Given the description of an element on the screen output the (x, y) to click on. 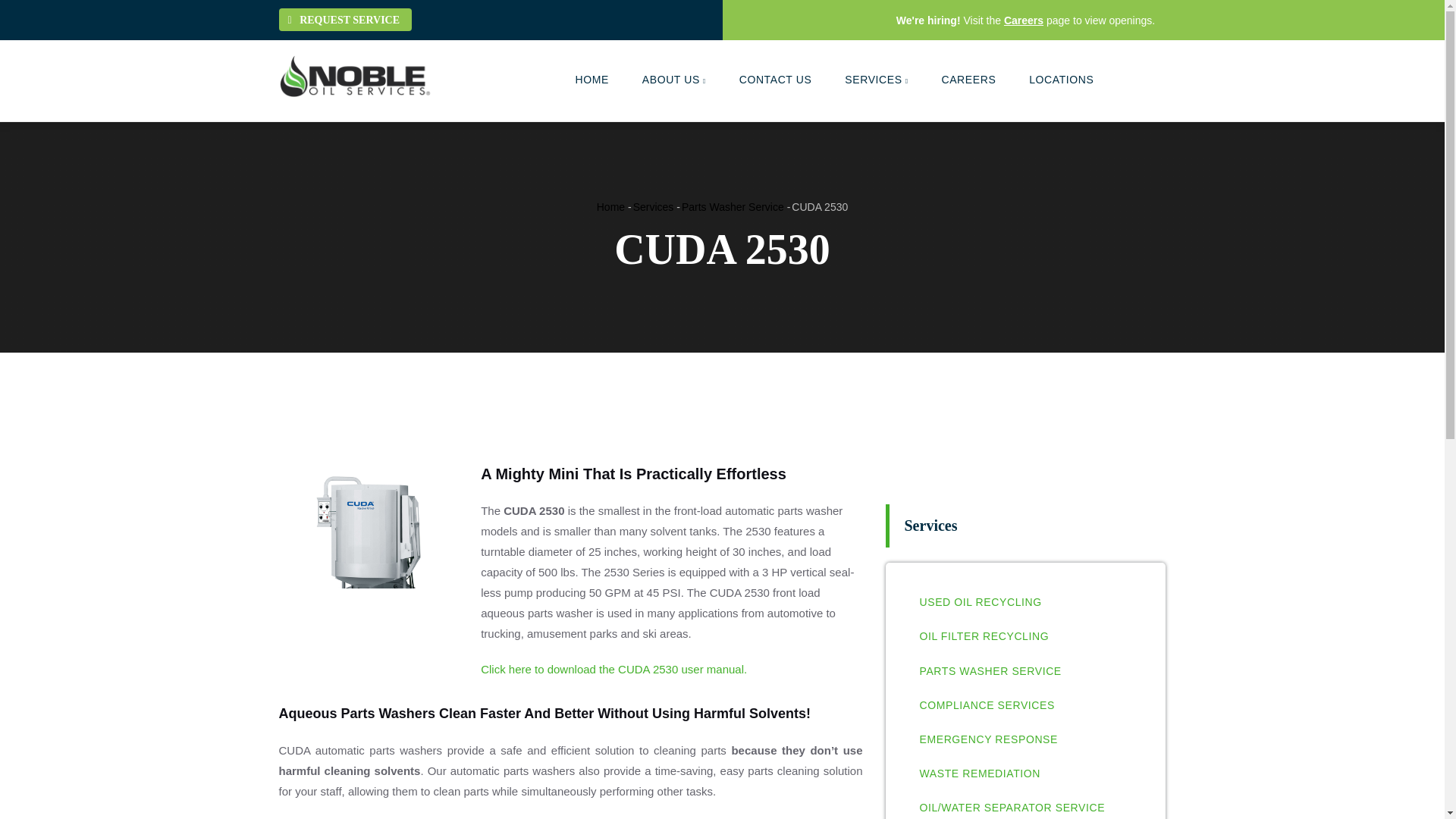
USED OIL RECYCLING (979, 602)
CONTACT US (775, 79)
Careers (1023, 20)
WASTE REMEDIATION (979, 773)
EMERGENCY RESPONSE (987, 739)
PARTS WASHER SERVICE (989, 671)
Home (354, 76)
SERVICES (876, 79)
LOCATIONS (1060, 79)
